Given the description of an element on the screen output the (x, y) to click on. 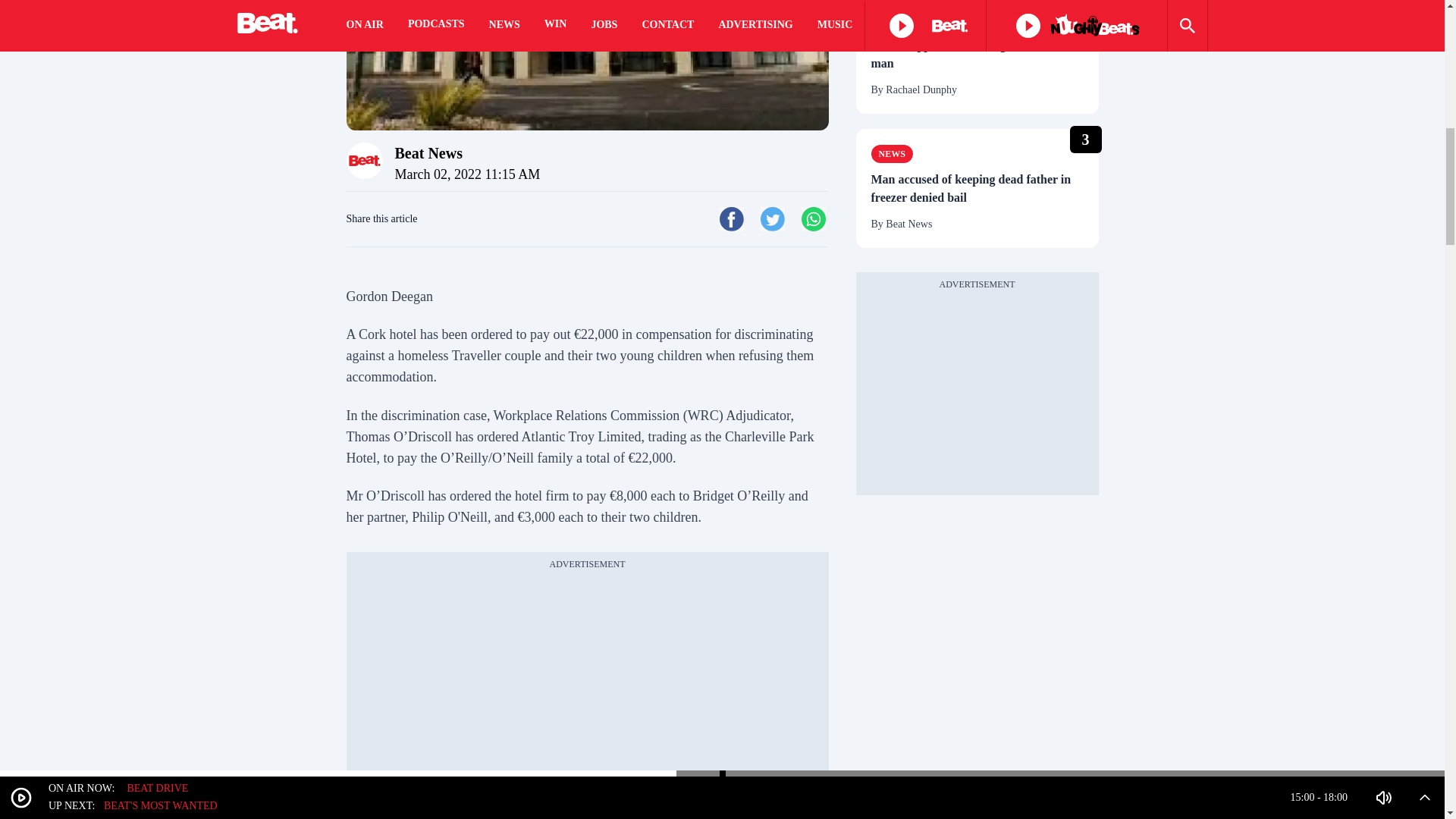
News (891, 153)
News (891, 19)
Man accused of keeping dead father in freezer denied bail (976, 188)
